Given the description of an element on the screen output the (x, y) to click on. 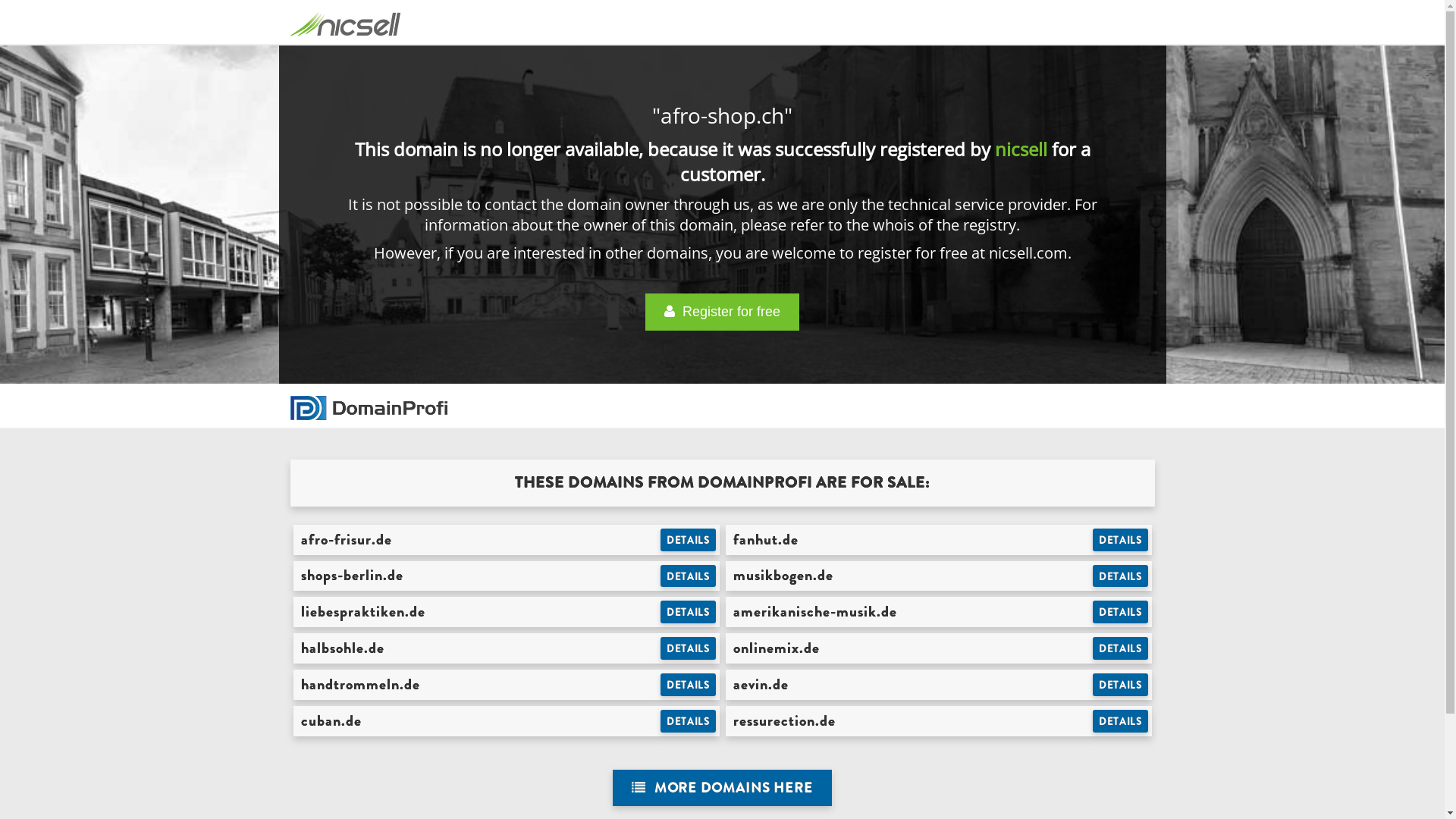
DETAILS Element type: text (687, 575)
DETAILS Element type: text (1120, 648)
DETAILS Element type: text (1120, 720)
DETAILS Element type: text (687, 648)
DETAILS Element type: text (1120, 611)
DETAILS Element type: text (687, 611)
DETAILS Element type: text (687, 684)
nicsell Element type: text (1020, 148)
DETAILS Element type: text (1120, 575)
  MORE DOMAINS HERE Element type: text (721, 787)
DETAILS Element type: text (1120, 684)
  Register for free Element type: text (722, 311)
DETAILS Element type: text (687, 539)
DETAILS Element type: text (687, 720)
DETAILS Element type: text (1120, 539)
